Given the description of an element on the screen output the (x, y) to click on. 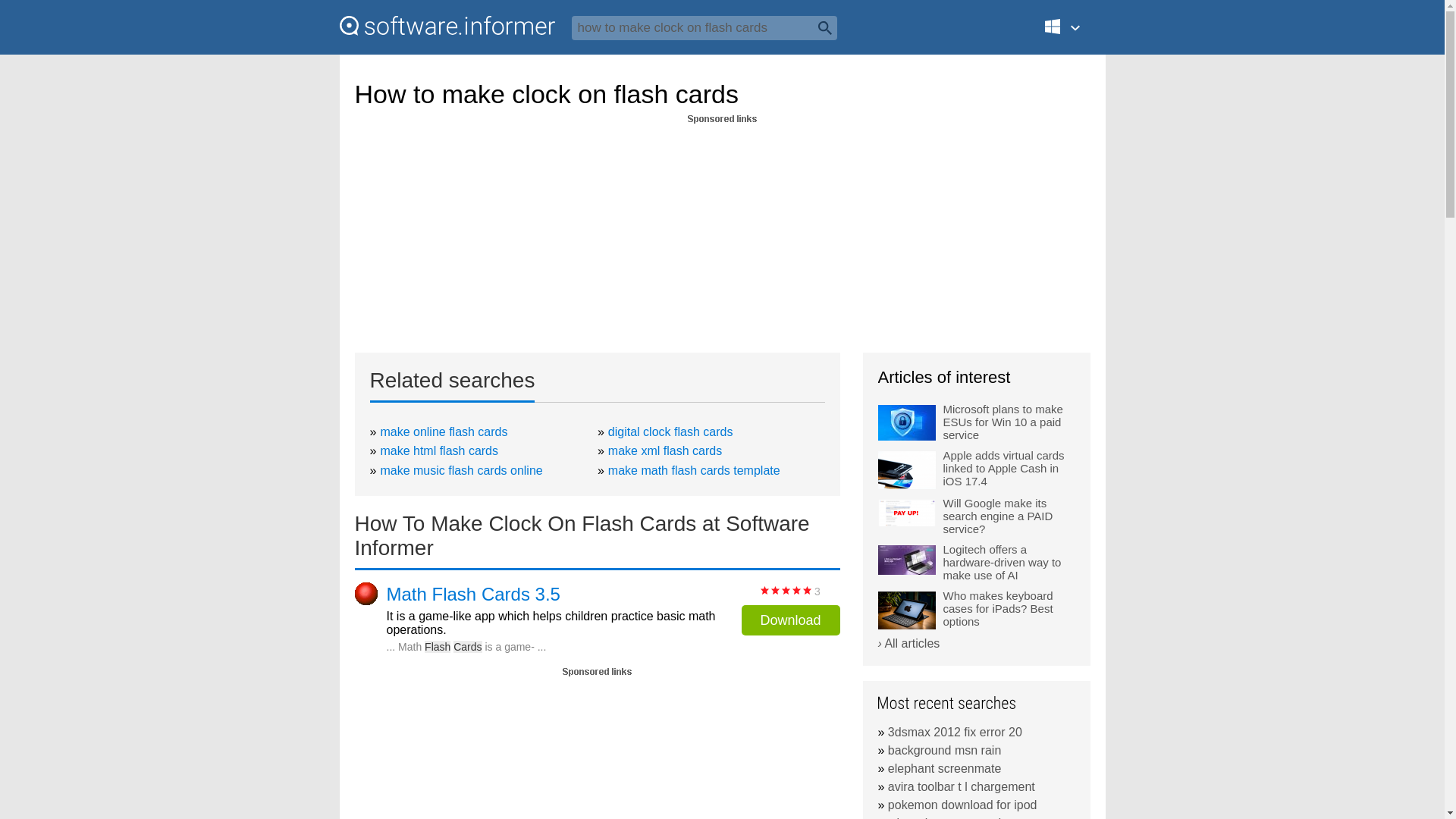
Software downloads and reviews (446, 25)
Download (790, 620)
make music flash cards online (460, 470)
make math flash cards template (694, 470)
make html flash cards (438, 450)
make online flash cards (443, 431)
Math Flash Cards 3.5 (473, 594)
3 votes (785, 590)
